Given the description of an element on the screen output the (x, y) to click on. 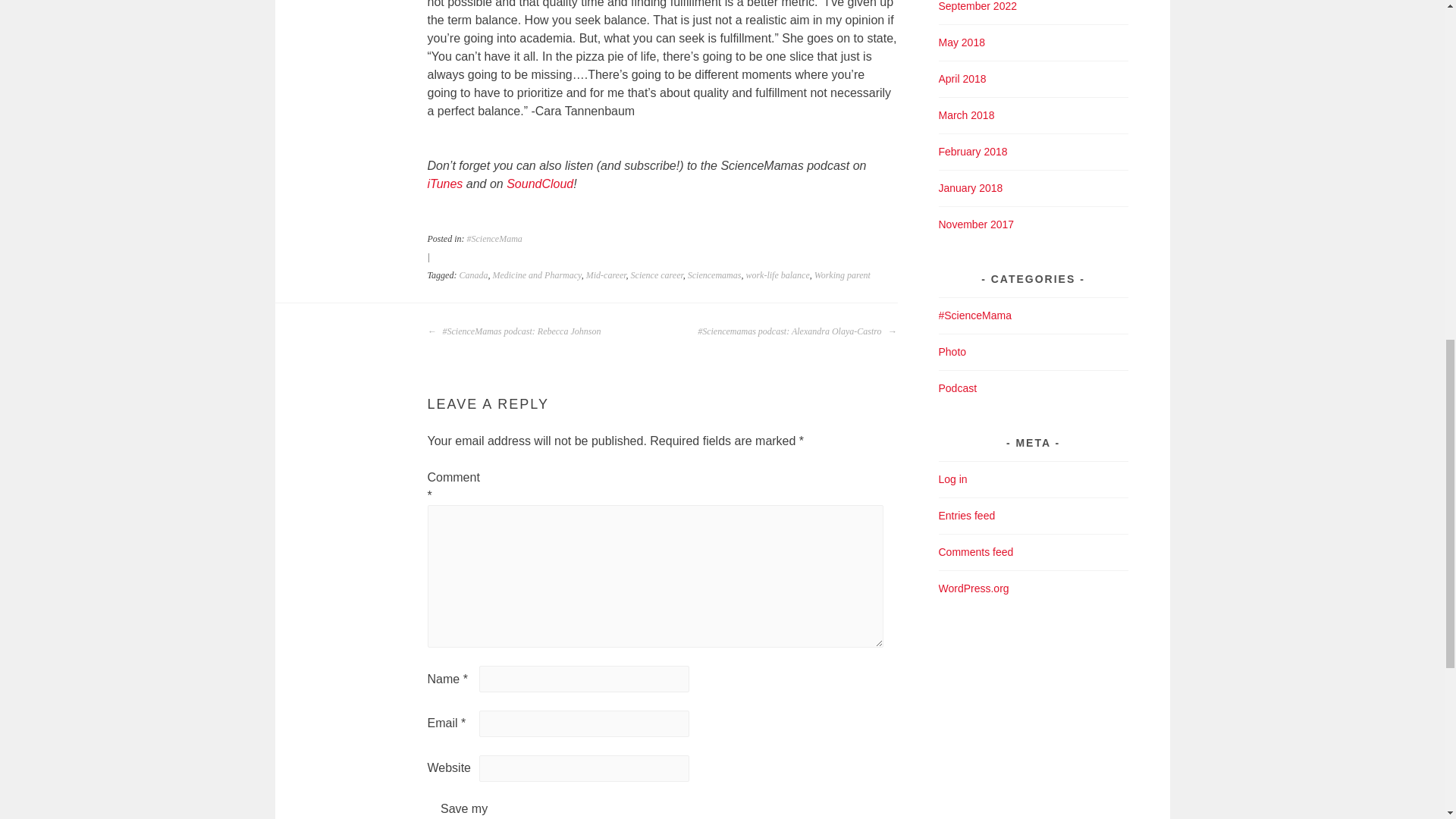
May 2018 (962, 42)
Canada (472, 275)
March 2018 (966, 114)
work-life balance (777, 275)
November 2017 (976, 224)
Mid-career (606, 275)
Science career (656, 275)
Working parent (841, 275)
September 2022 (978, 6)
January 2018 (971, 187)
Medicine and Pharmacy (536, 275)
February 2018 (973, 151)
April 2018 (963, 78)
SoundCloud (539, 183)
Sciencemamas (714, 275)
